Given the description of an element on the screen output the (x, y) to click on. 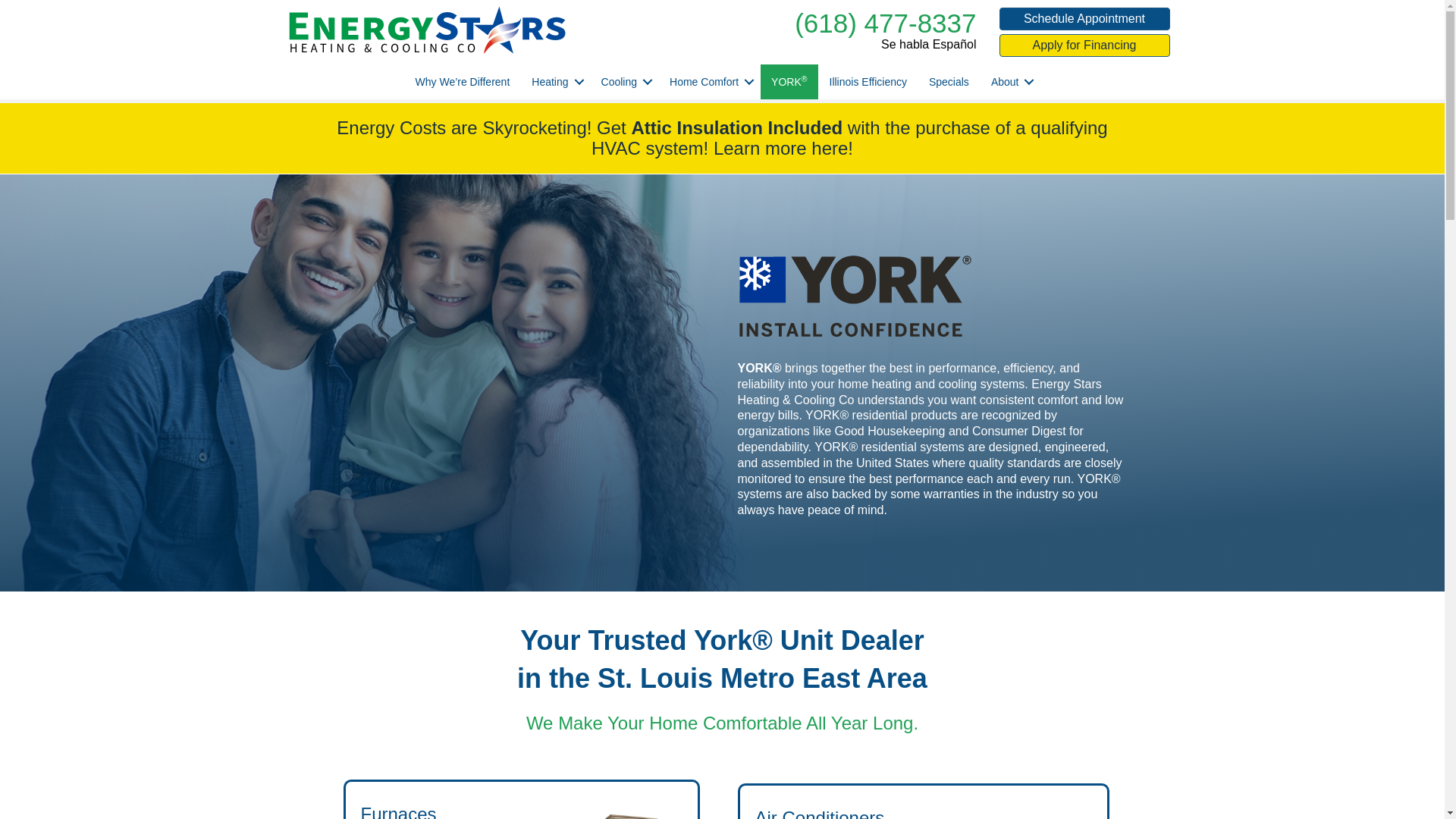
York Logo Install Confidence (854, 295)
Schedule Appointment (1084, 18)
Illinois Efficiency (867, 81)
Apply for Financing (1084, 45)
Home Comfort (709, 81)
About (1010, 81)
ESHorizontalLogo (426, 30)
Heating (555, 81)
Specials (948, 81)
